Given the description of an element on the screen output the (x, y) to click on. 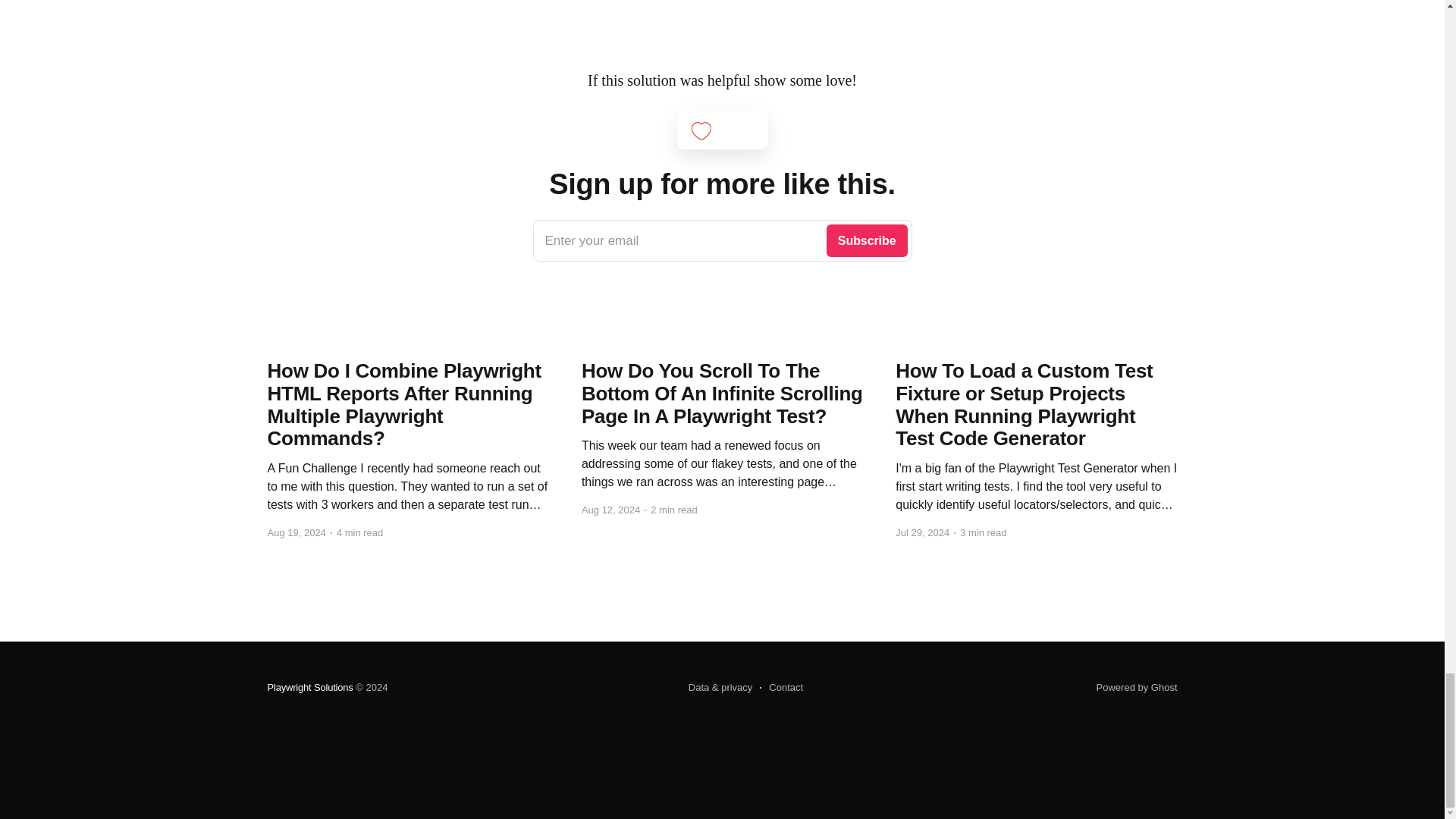
Contact (781, 687)
Powered by Ghost (1136, 686)
Playwright Solutions (721, 241)
